Given the description of an element on the screen output the (x, y) to click on. 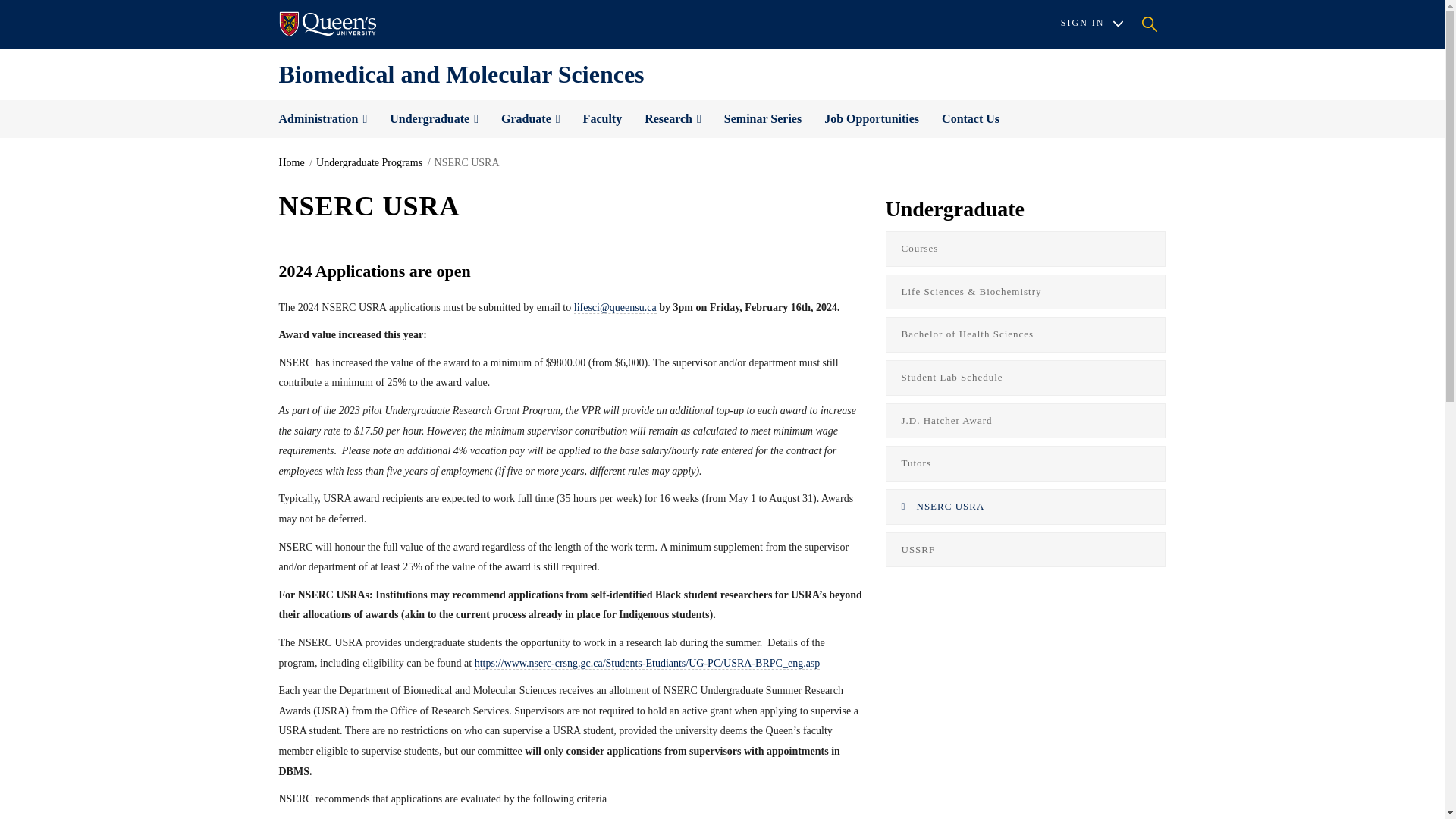
Graduate (530, 118)
Undergraduate (433, 118)
Administration (322, 118)
Faculty (602, 118)
Research (673, 118)
Biomedical and Molecular Sciences (462, 73)
SIGN IN (1091, 24)
